Given the description of an element on the screen output the (x, y) to click on. 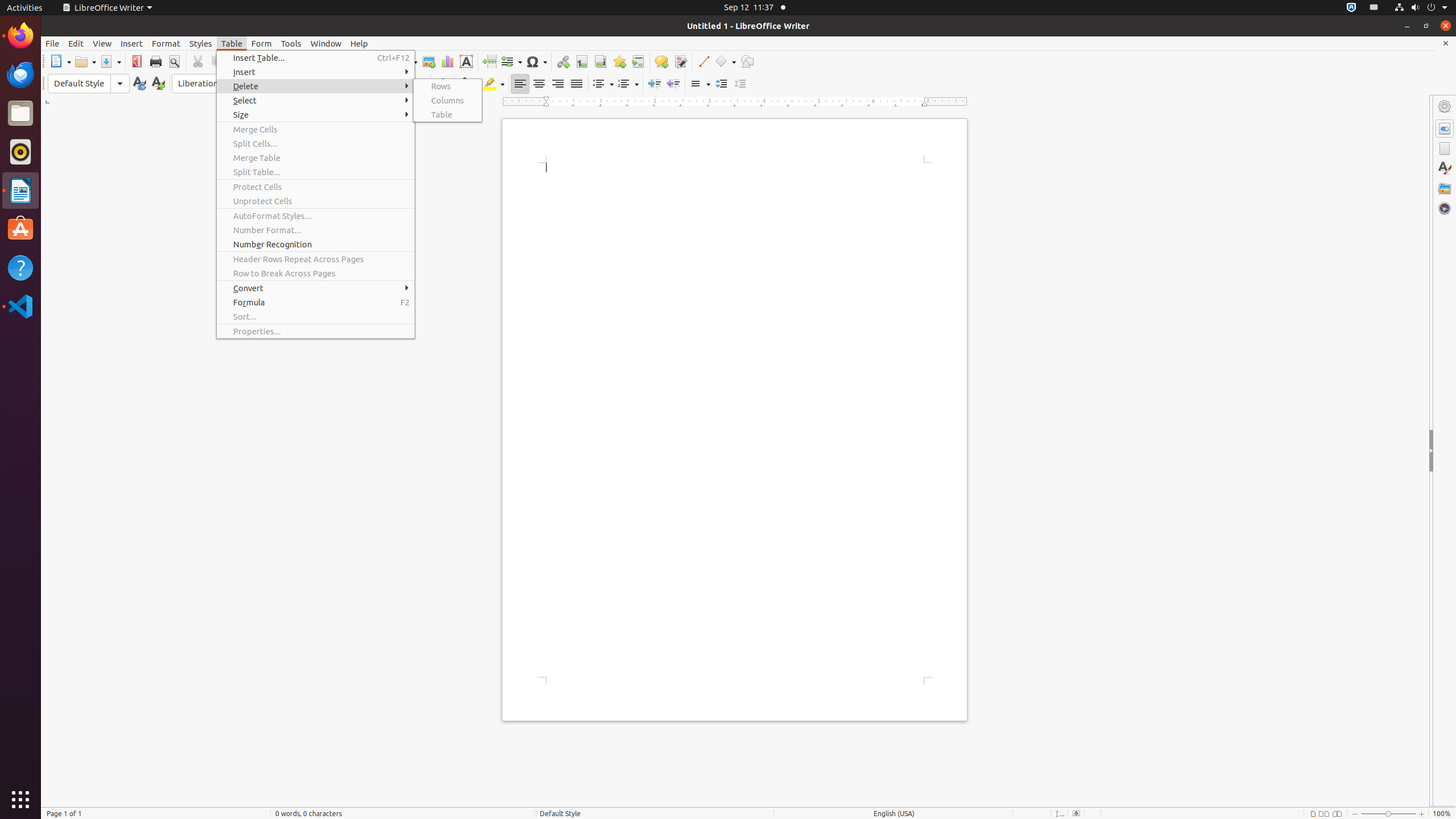
Right Element type: toggle-button (557, 83)
File Element type: menu (51, 43)
Sort... Element type: menu-item (315, 316)
Rhythmbox Element type: push-button (20, 151)
Help Element type: menu (358, 43)
